Given the description of an element on the screen output the (x, y) to click on. 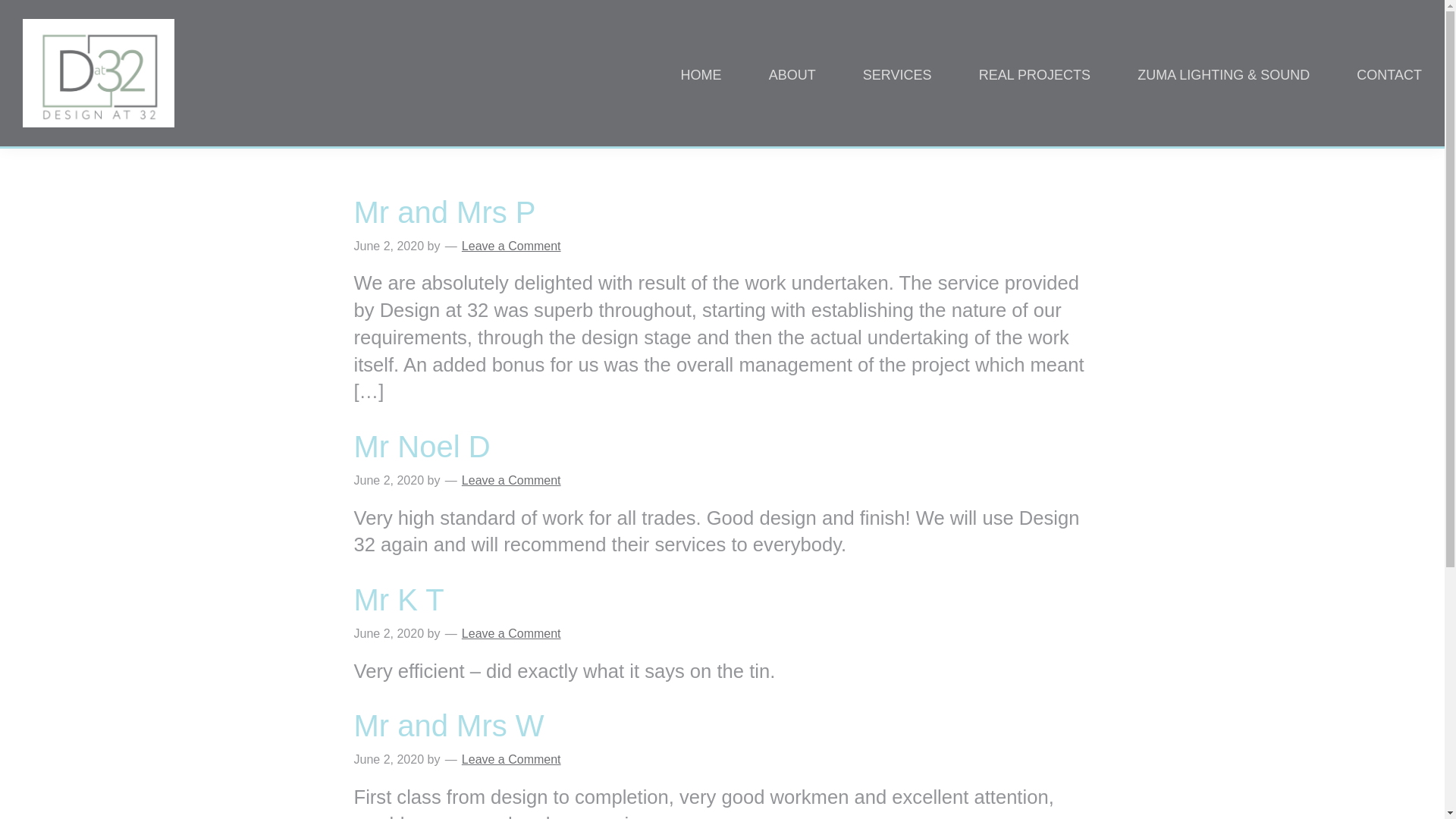
Leave a Comment (510, 245)
Leave a Comment (510, 633)
ABOUT (786, 73)
CONTACT (1383, 73)
SERVICES (891, 73)
Mr and Mrs P (444, 212)
HOME (695, 73)
Leave a Comment (510, 758)
REAL PROJECTS (1029, 73)
Mr and Mrs W (448, 725)
Mr K T (398, 599)
Mr Noel D (421, 446)
Leave a Comment (510, 480)
